Given the description of an element on the screen output the (x, y) to click on. 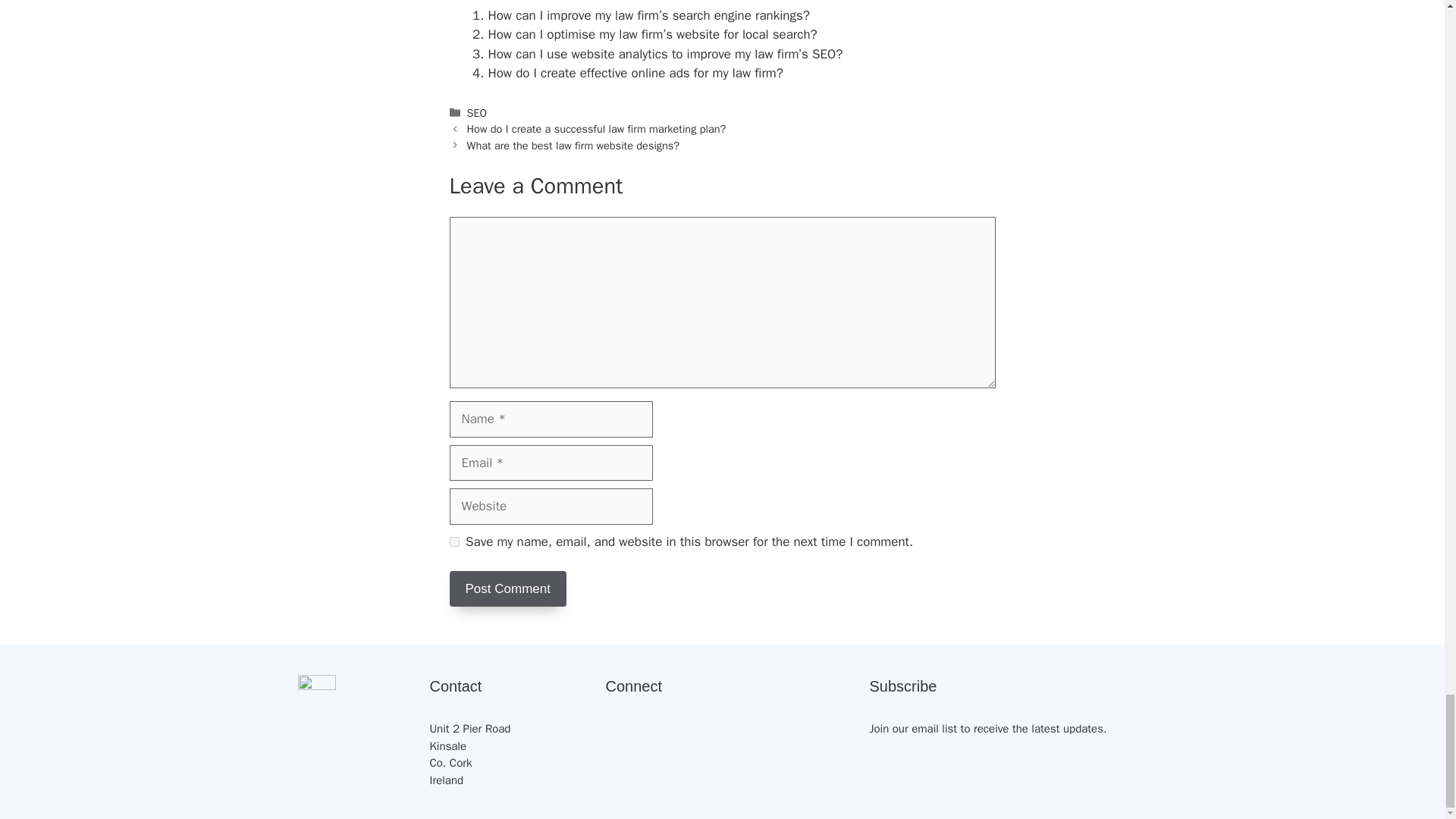
yes (453, 542)
What are the best law firm website designs? (573, 145)
Next (573, 145)
Post Comment (507, 588)
How do I create effective online ads for my law firm? (635, 73)
Post Comment (507, 588)
How do I create effective online ads for my law firm? (635, 73)
Previous (596, 128)
How do I create a successful law firm marketing plan? (596, 128)
SEO (477, 112)
